Given the description of an element on the screen output the (x, y) to click on. 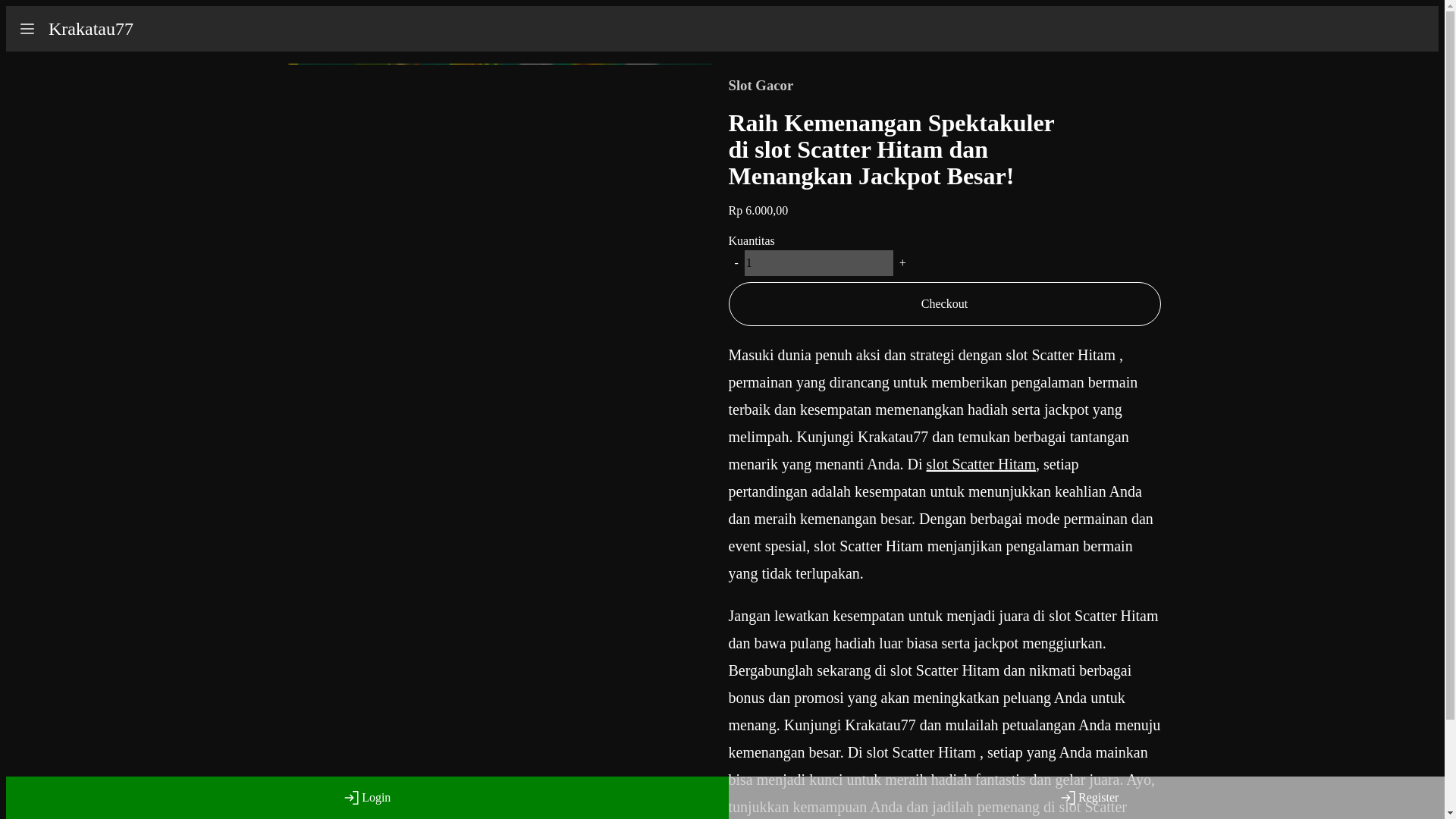
slot Scatter Hitam (980, 463)
Checkout (944, 303)
1 (818, 263)
Login (367, 797)
Krakatau77 (90, 28)
